Given the description of an element on the screen output the (x, y) to click on. 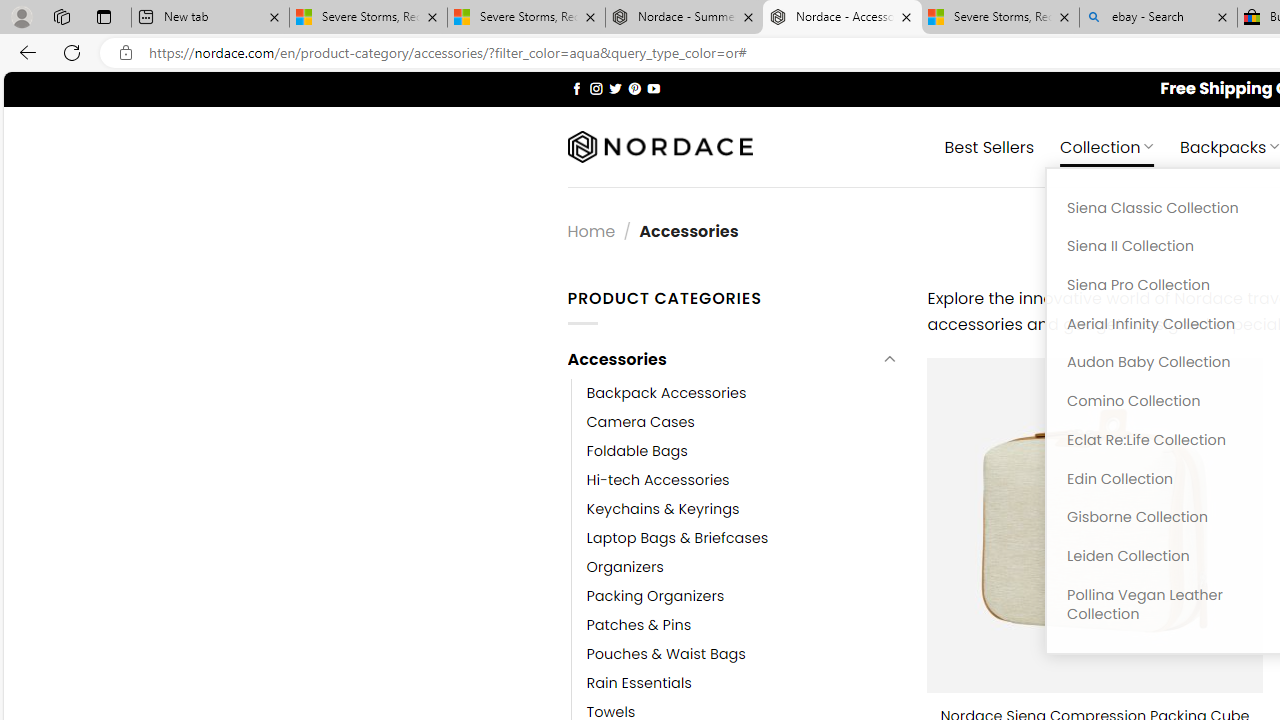
Rain Essentials (639, 683)
Packing Organizers (655, 596)
